Given the description of an element on the screen output the (x, y) to click on. 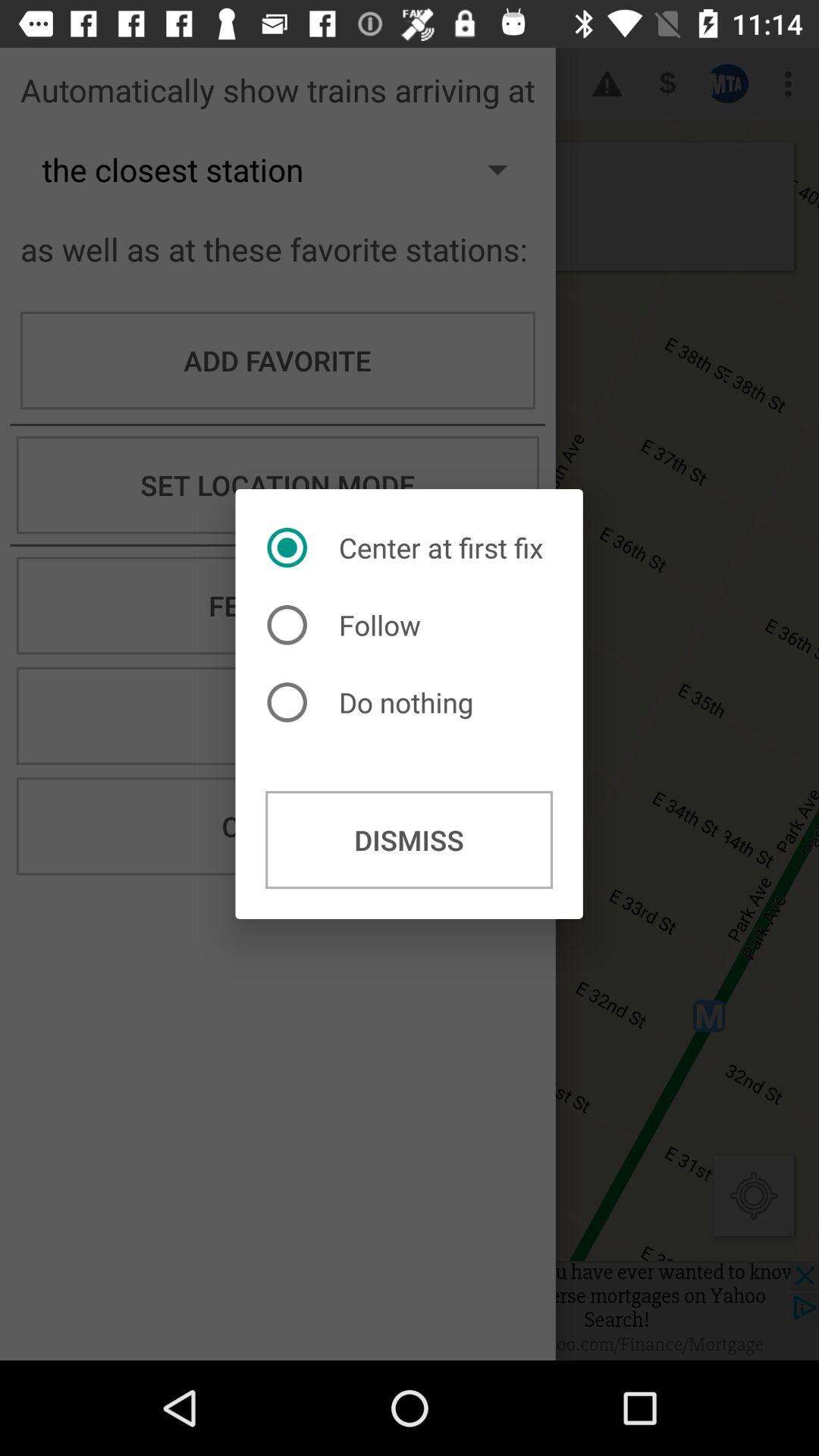
press the dismiss button (408, 839)
